Given the description of an element on the screen output the (x, y) to click on. 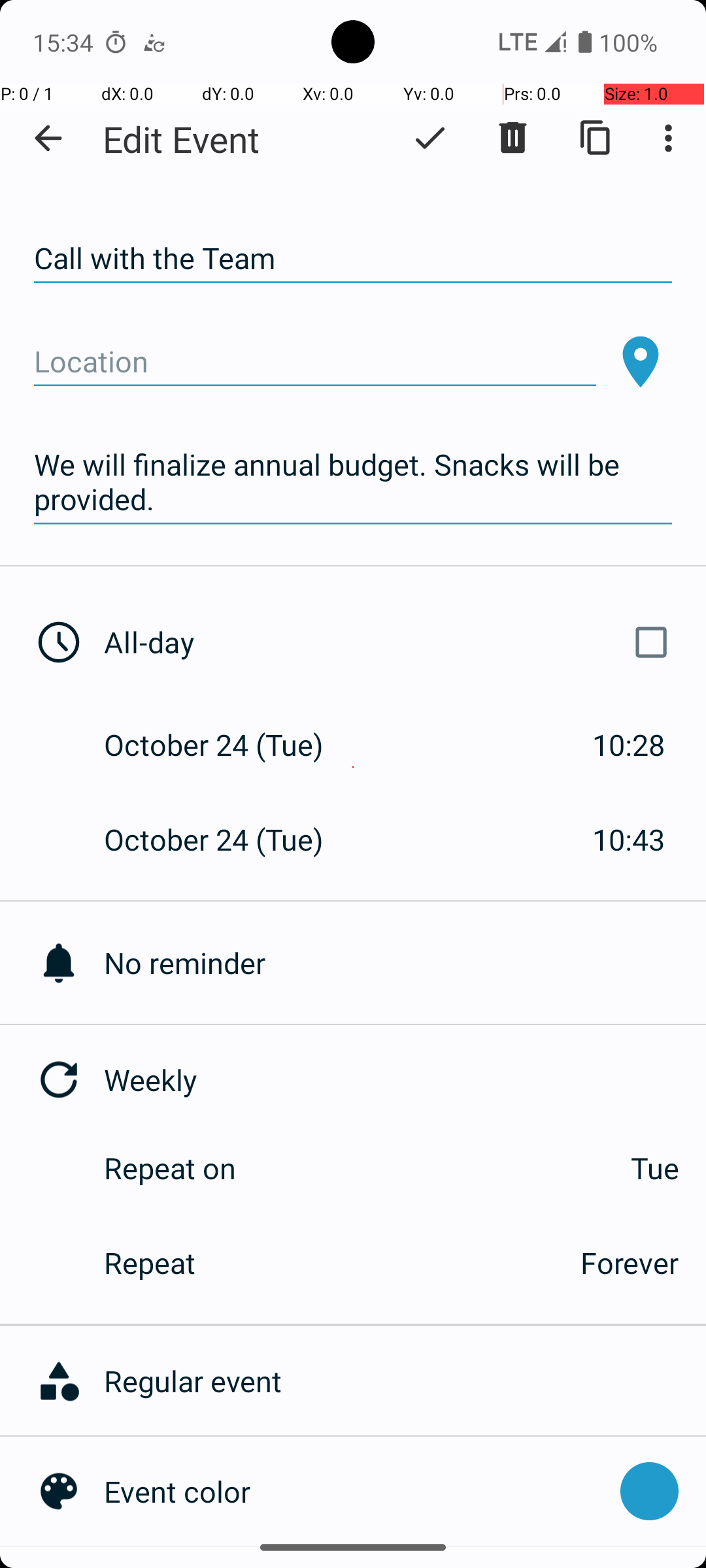
We will finalize annual budget. Snacks will be provided. Element type: android.widget.EditText (352, 482)
October 24 (Tue) Element type: android.widget.TextView (227, 744)
10:28 Element type: android.widget.TextView (628, 744)
10:43 Element type: android.widget.TextView (628, 838)
Weekly Element type: android.widget.TextView (404, 1079)
Repeat on Element type: android.widget.TextView (169, 1167)
Repeat Element type: android.widget.TextView (328, 1262)
Forever Element type: android.widget.TextView (629, 1262)
